Given the description of an element on the screen output the (x, y) to click on. 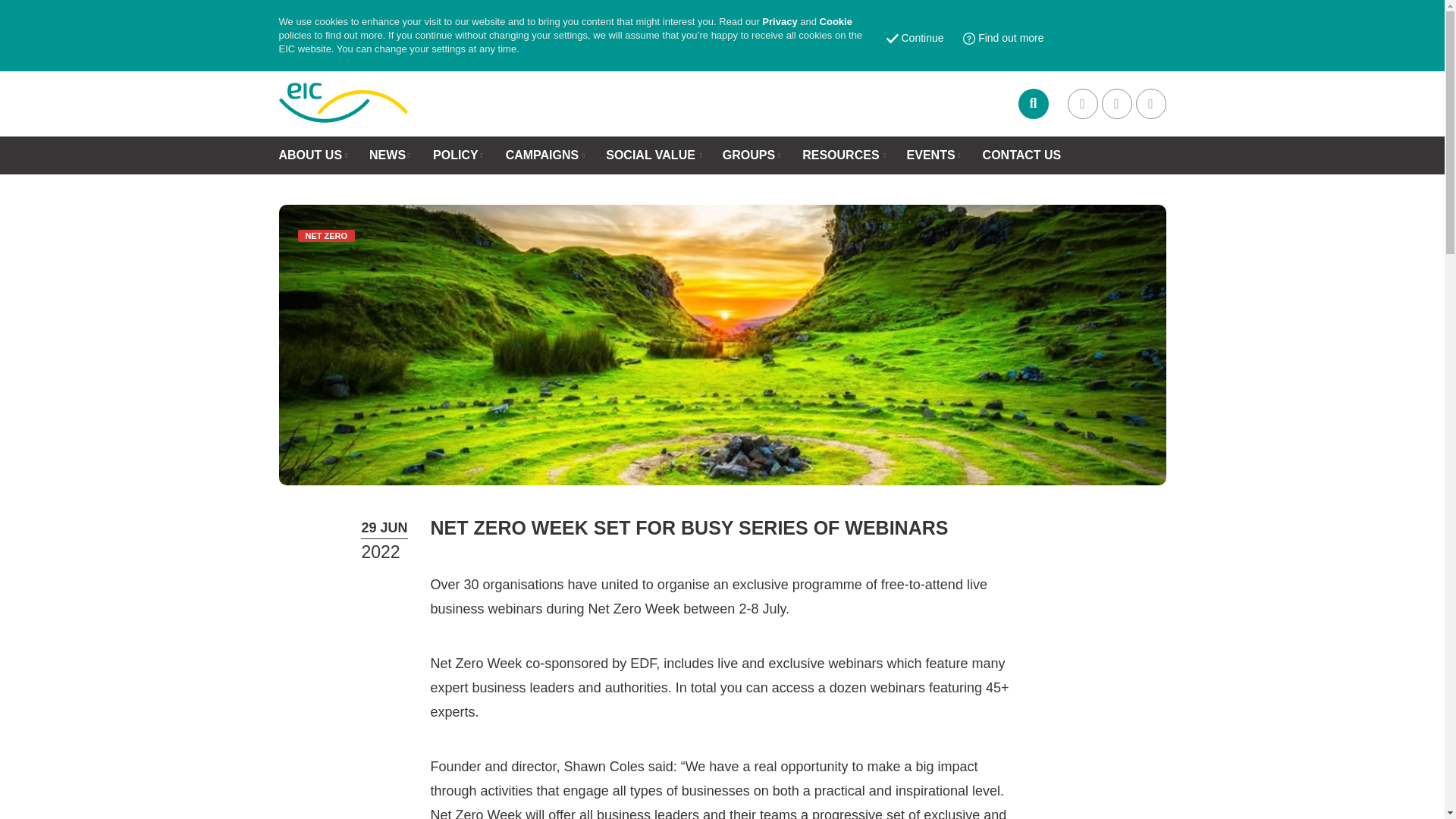
POLICY (455, 155)
CAMPAIGNS (542, 155)
GROUPS (748, 155)
NEWS (387, 155)
Privacy (778, 21)
ABOUT US (310, 155)
Find out more (1002, 40)
Cookie (835, 21)
SOCIAL VALUE (650, 155)
Continue (914, 40)
